Given the description of an element on the screen output the (x, y) to click on. 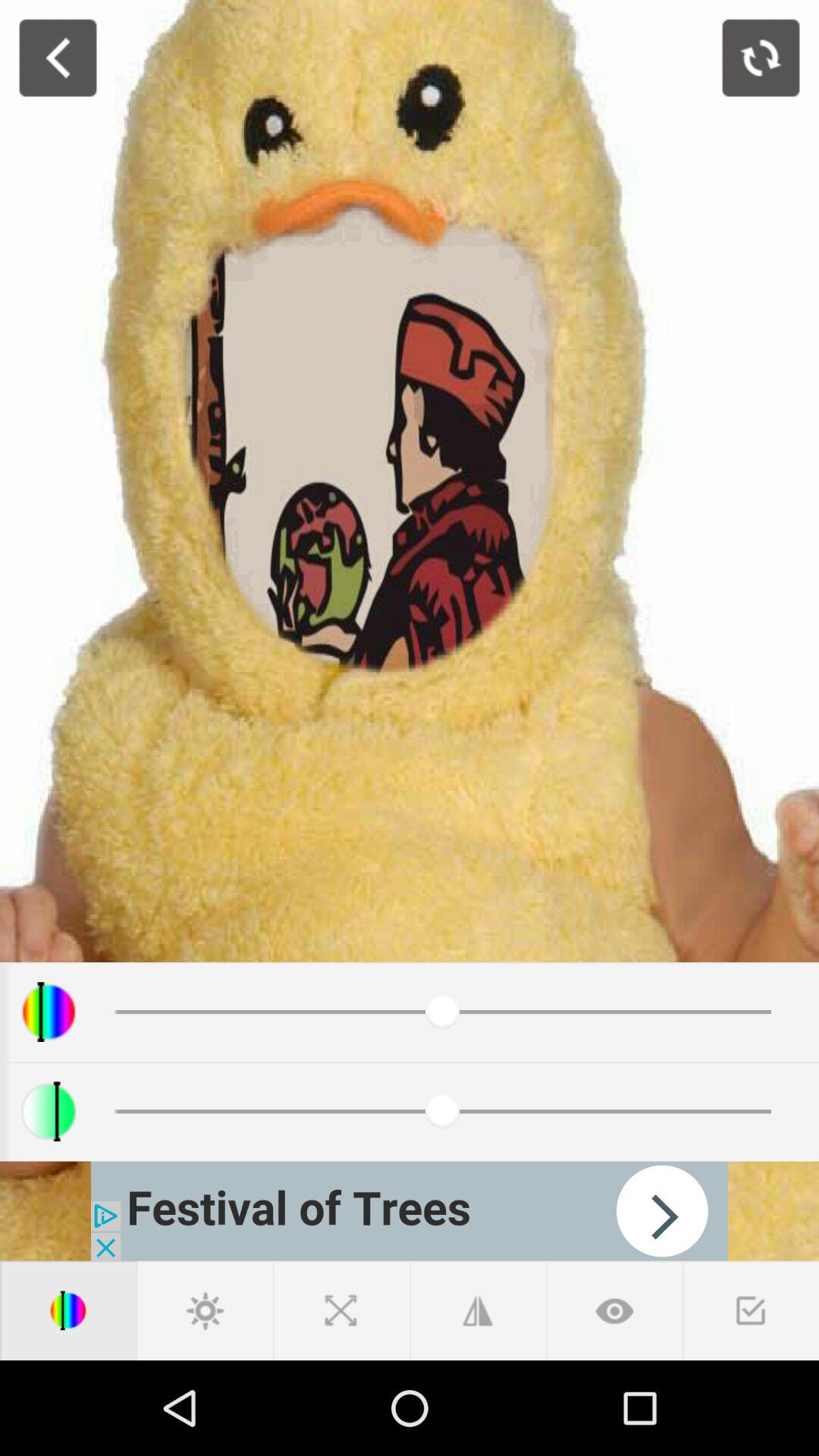
move forward (409, 1210)
